Given the description of an element on the screen output the (x, y) to click on. 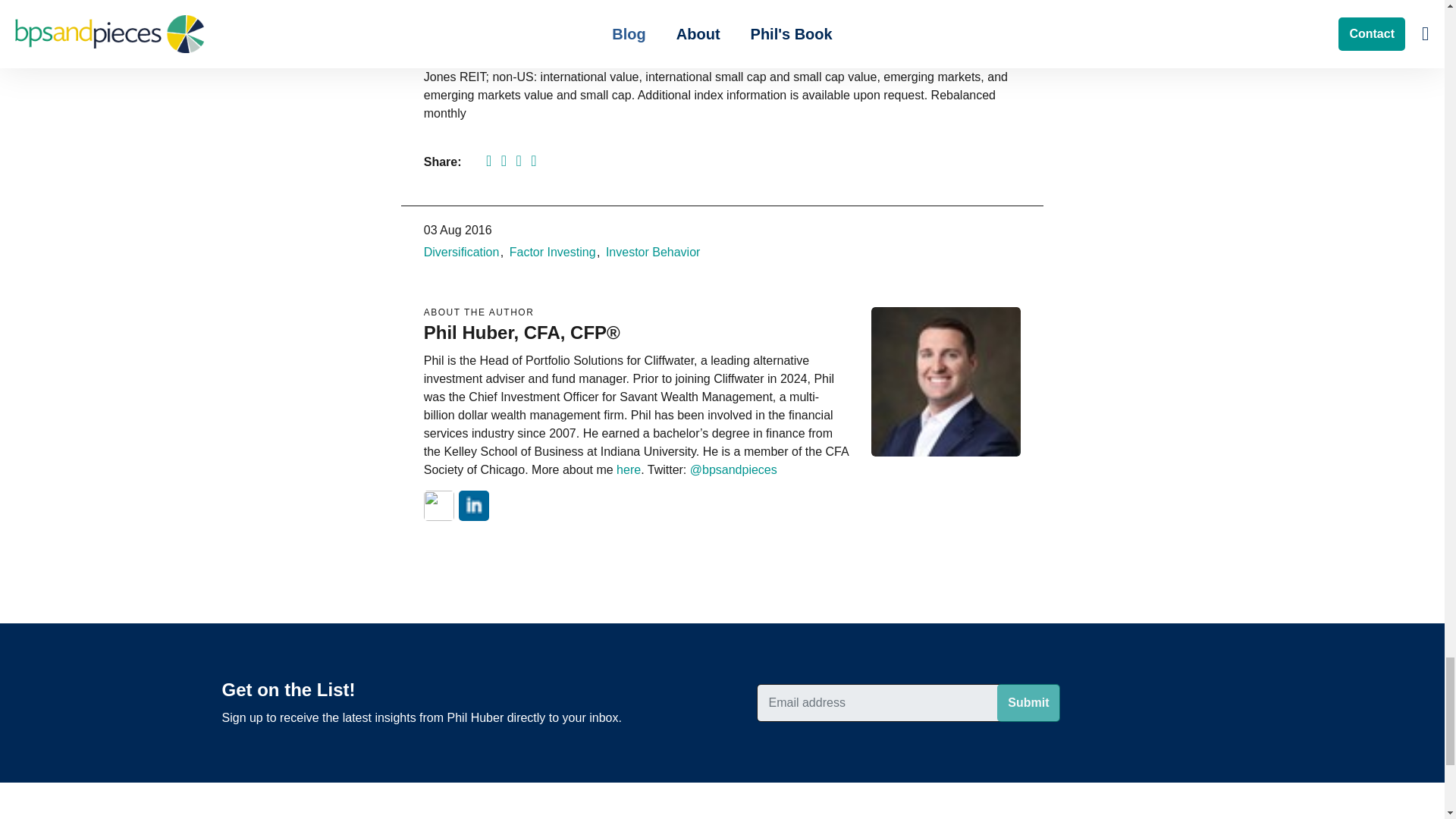
Factor Investing (552, 251)
Factor Investing (552, 251)
Diversification (461, 251)
Investor Behavior (652, 251)
Diversification (461, 251)
here (627, 468)
Investor Behavior (652, 251)
About (627, 468)
